Given the description of an element on the screen output the (x, y) to click on. 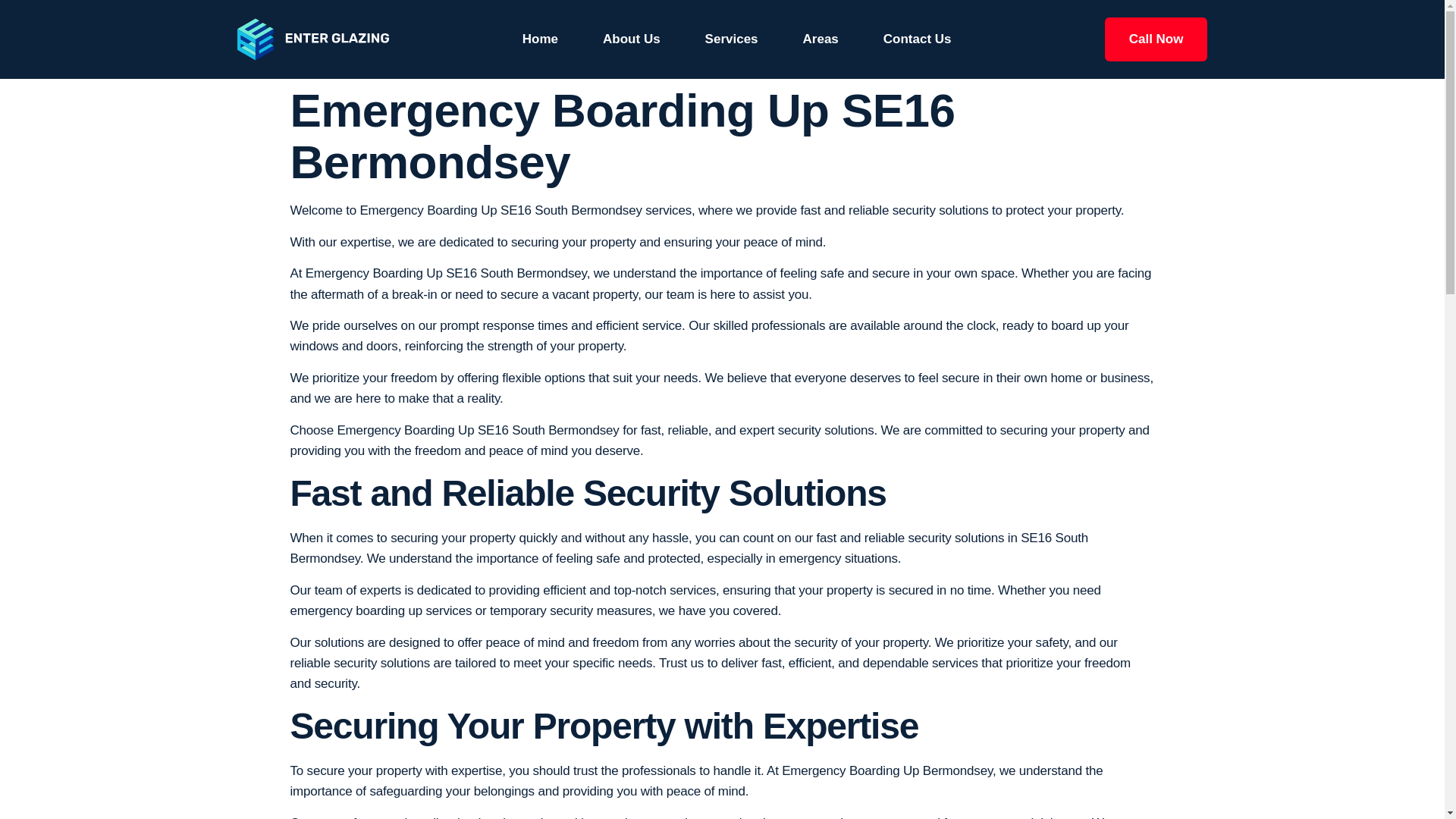
Areas (821, 39)
About Us (631, 39)
Services (731, 39)
Home (540, 39)
